Given the description of an element on the screen output the (x, y) to click on. 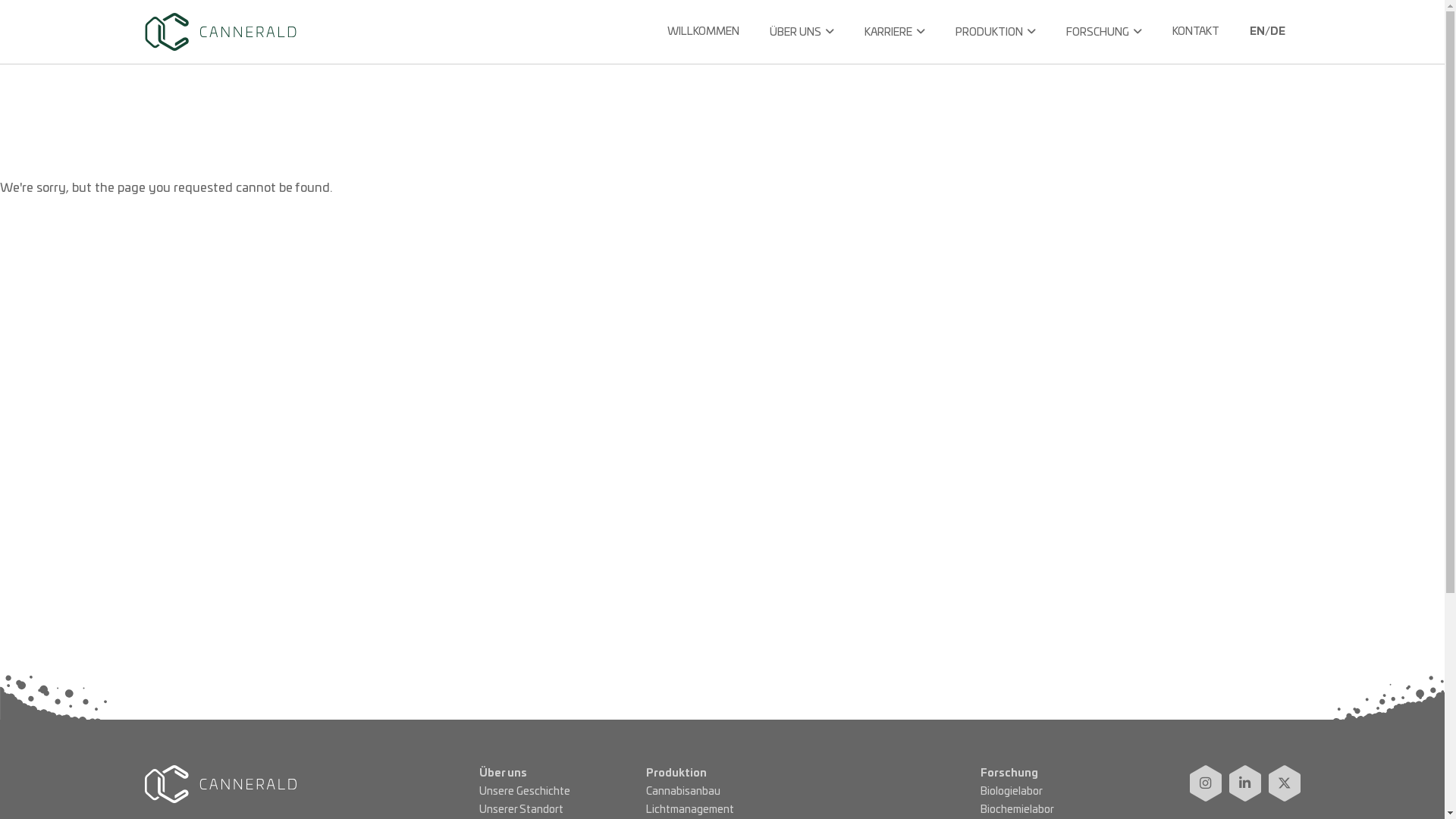
Cannabisanbau Element type: text (683, 791)
WILLKOMMEN Element type: text (703, 43)
Biochemielabor Element type: text (1017, 809)
Lichtmanagement Element type: text (690, 809)
Unsere Geschichte Element type: text (524, 791)
KONTAKT Element type: text (1195, 43)
Unserer Standort Element type: text (521, 809)
Biologielabor Element type: text (1011, 791)
EN/DE Element type: text (1267, 43)
